Given the description of an element on the screen output the (x, y) to click on. 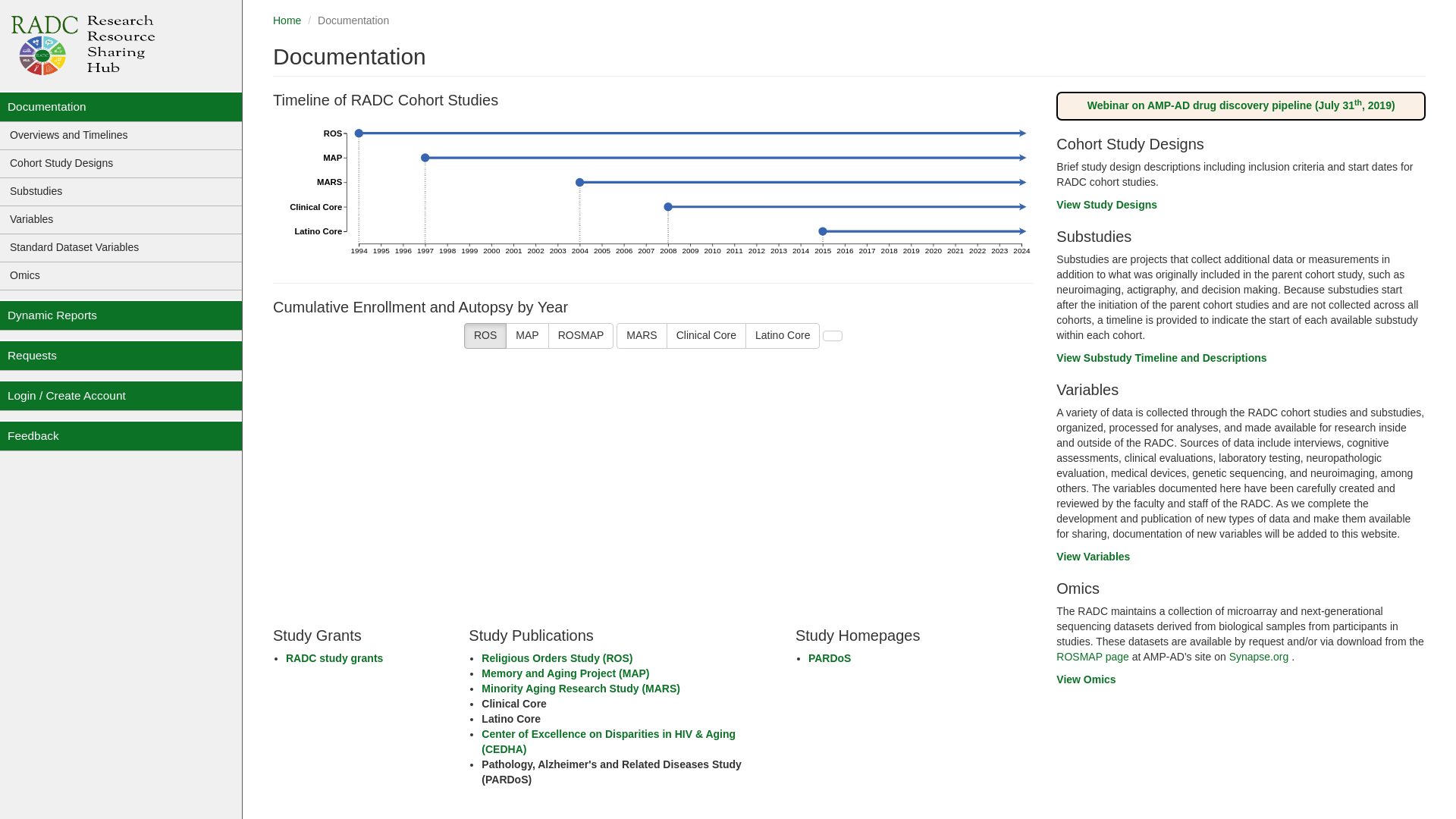
Overviews and Timelines (121, 135)
Omics (121, 276)
Latino Core (782, 335)
Dynamic Reports (121, 314)
View Substudy Timeline and Descriptions (1161, 357)
MARS (640, 335)
MAP (526, 335)
ROS (485, 335)
Requests (121, 355)
Standard Dataset Variables (121, 248)
RADC study grants (333, 657)
PARDoS (829, 657)
Clinical Core (705, 335)
Synapse.org (1260, 656)
